Given the description of an element on the screen output the (x, y) to click on. 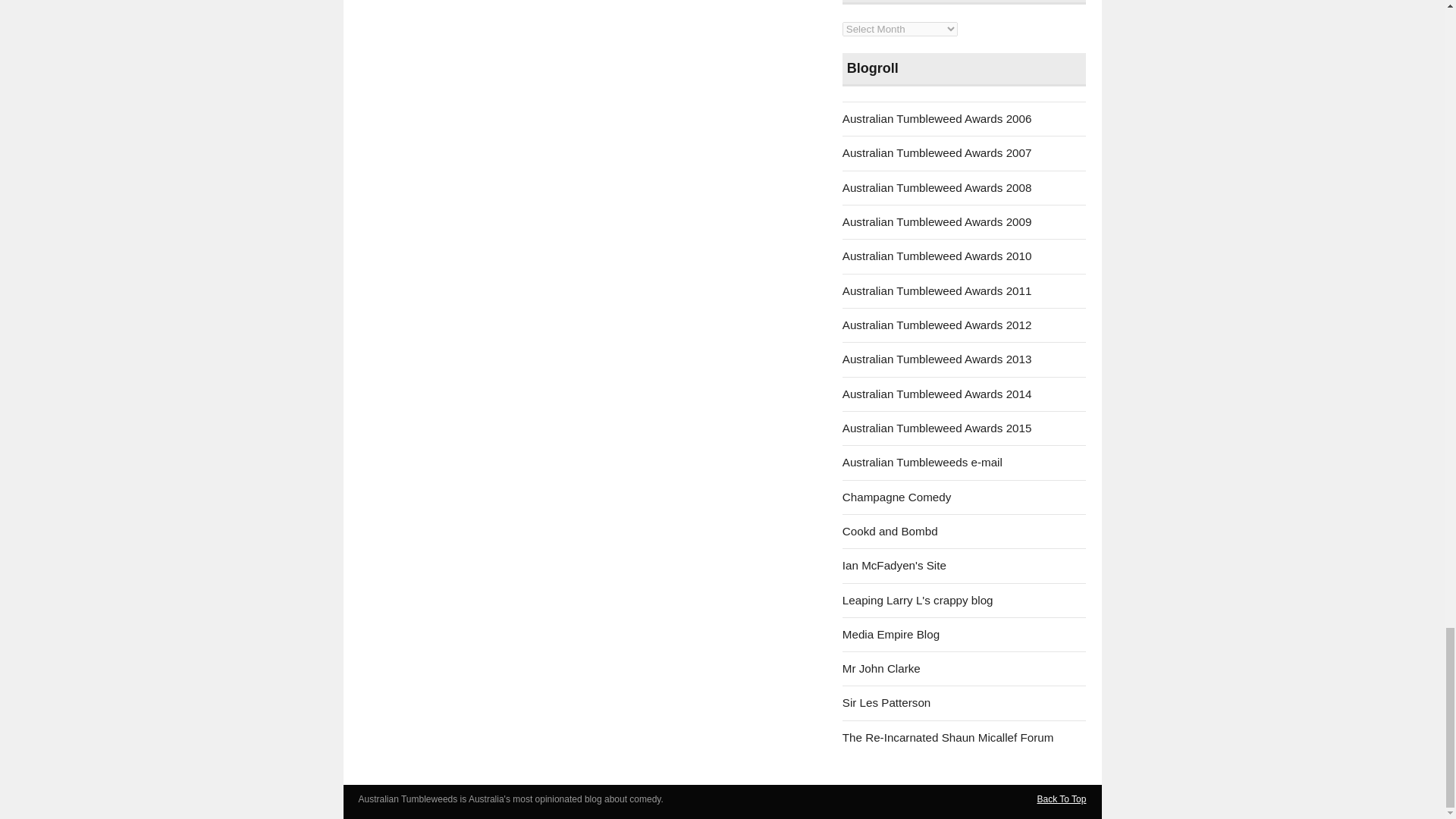
Sadly obvious (894, 564)
Back To Top (1061, 798)
GNW jokes (891, 634)
Australian Tumbleweed Awards 2014 (937, 393)
